Given the description of an element on the screen output the (x, y) to click on. 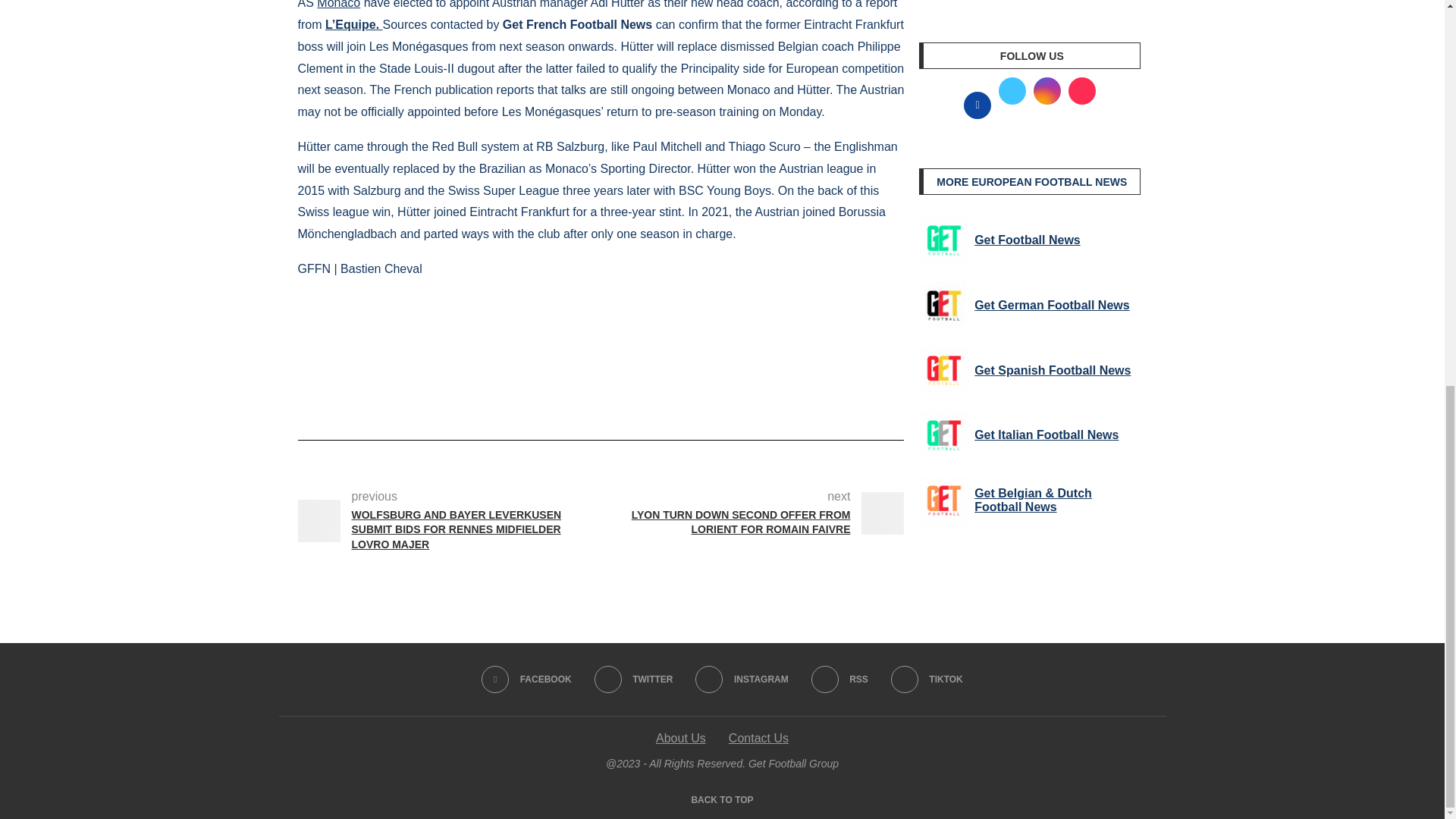
Get Italian Football News (943, 435)
Get Football News (943, 240)
Get Spanish Football News (943, 370)
Get German Football News (943, 305)
